Given the description of an element on the screen output the (x, y) to click on. 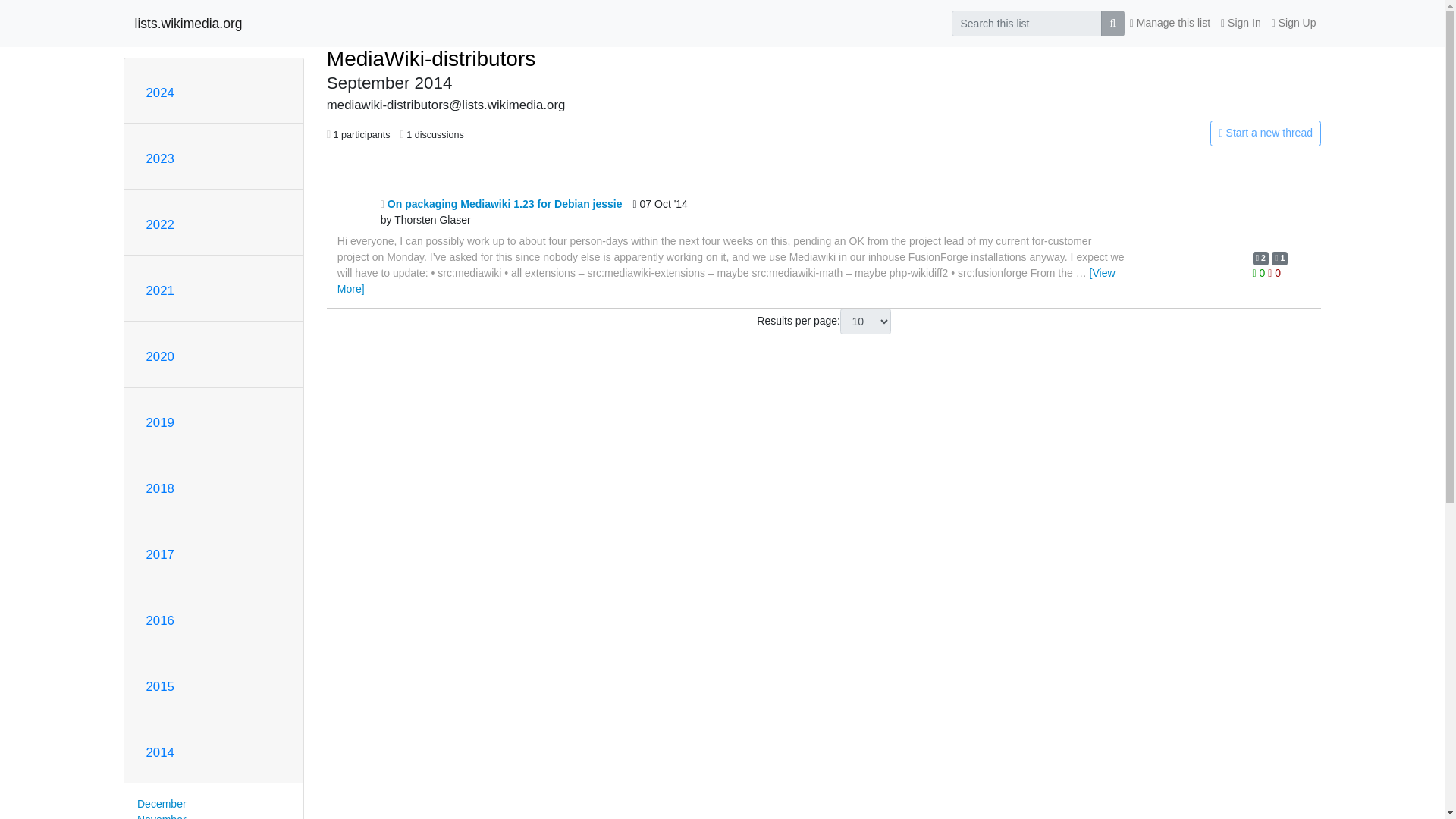
Tuesday, 7 October 2014 03:33:43 (660, 212)
You must be logged-in to vote. (1274, 272)
2022 (159, 224)
Manage this list (1169, 22)
Sign In (1240, 22)
You must be logged-in to create a thread. (1162, 133)
You must be logged-in to vote. (1260, 272)
2024 (159, 92)
Sign Up (1294, 22)
2023 (159, 158)
lists.wikimedia.org (189, 22)
